Given the description of an element on the screen output the (x, y) to click on. 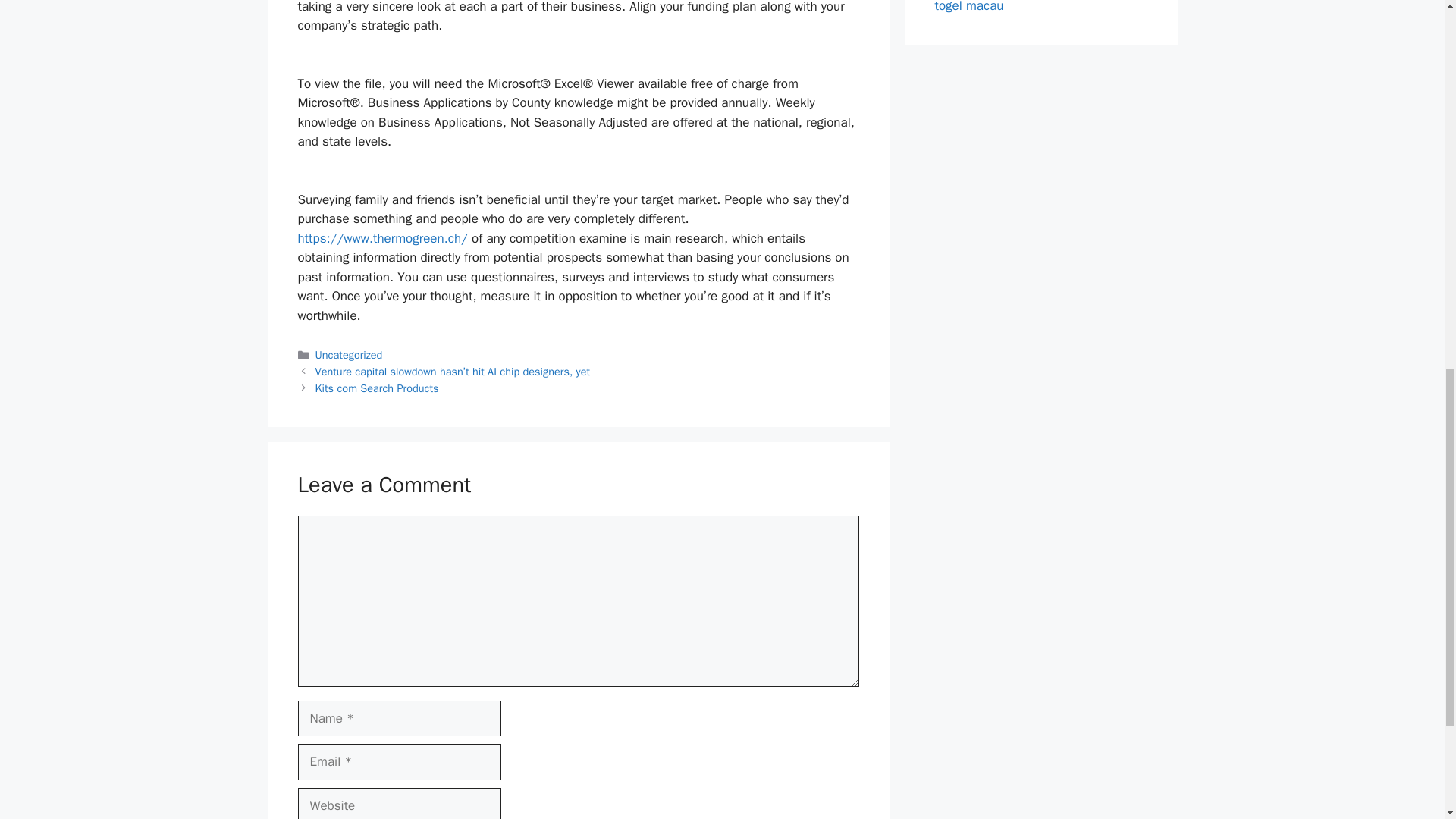
togel macau (968, 6)
Kits com Search Products (377, 387)
Uncategorized (348, 354)
